Given the description of an element on the screen output the (x, y) to click on. 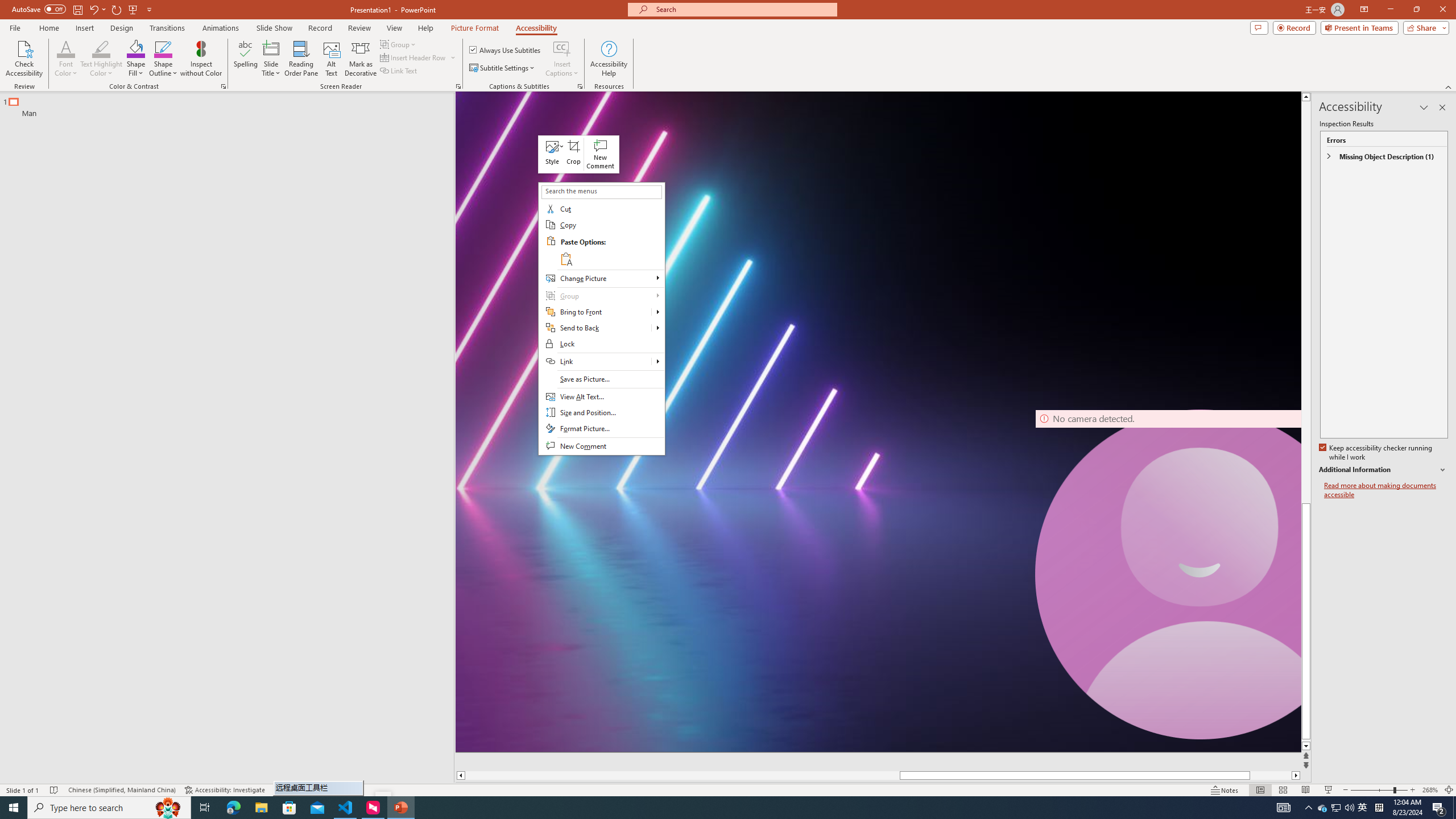
Style (552, 154)
Class: NetUITWMenuContainer (600, 318)
